Given the description of an element on the screen output the (x, y) to click on. 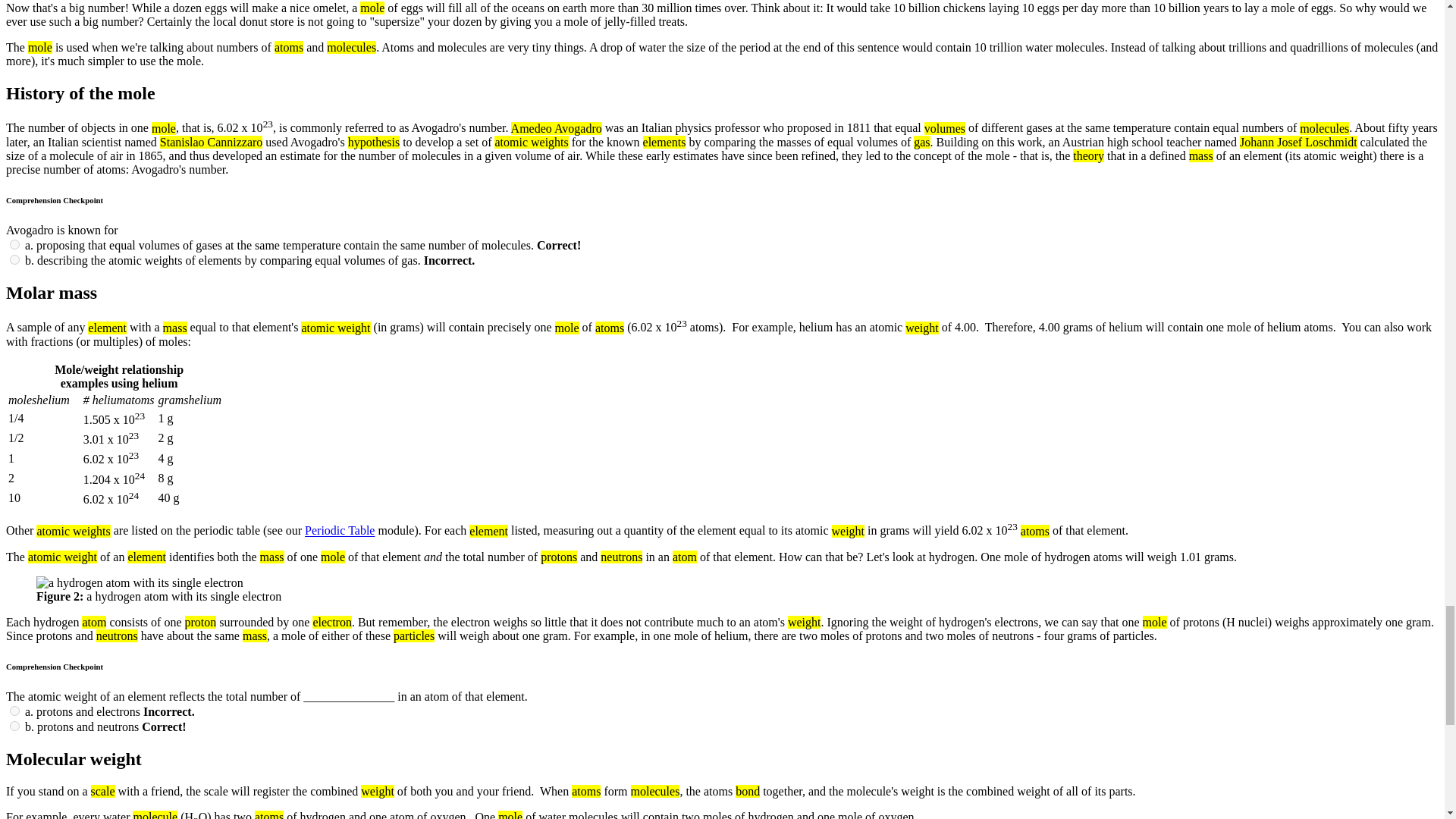
protons and electrons (15, 710)
protons and neutrons (15, 726)
